Given the description of an element on the screen output the (x, y) to click on. 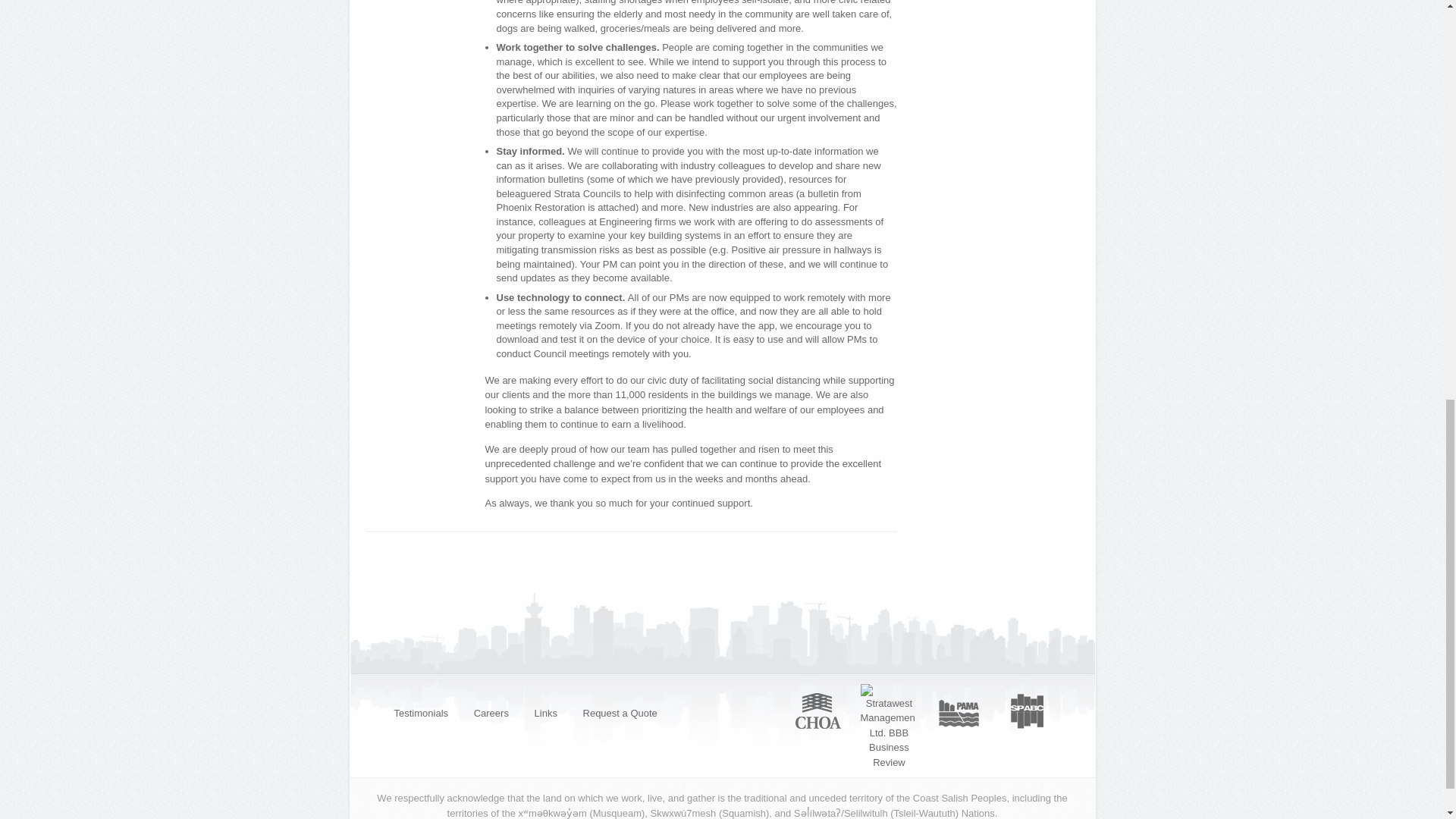
Request a Quote (620, 713)
Testimonials (420, 713)
Links (545, 713)
Careers (491, 713)
